Given the description of an element on the screen output the (x, y) to click on. 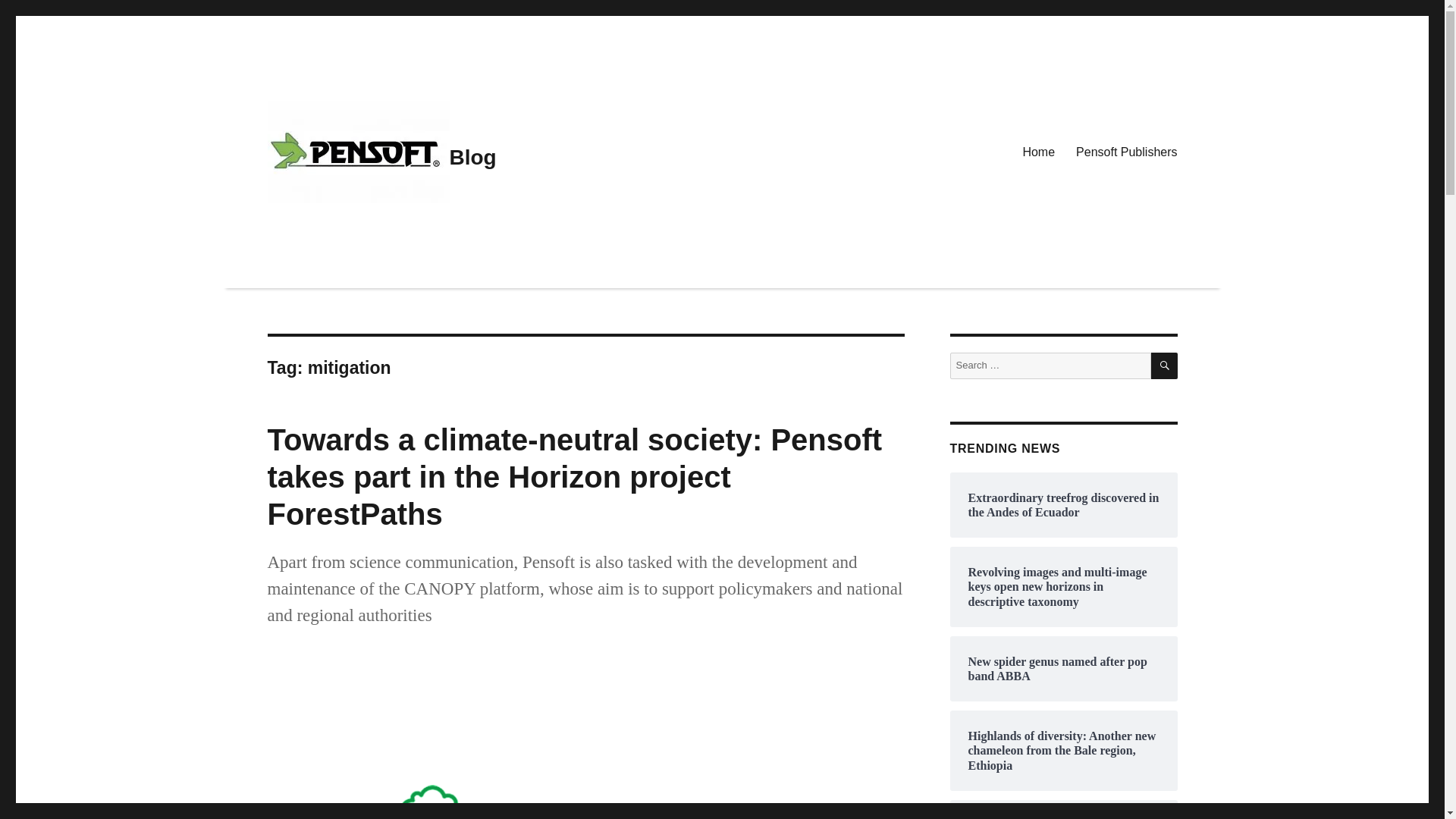
Home (1038, 152)
Blog (472, 156)
Pensoft Publishers (1126, 152)
